Given the description of an element on the screen output the (x, y) to click on. 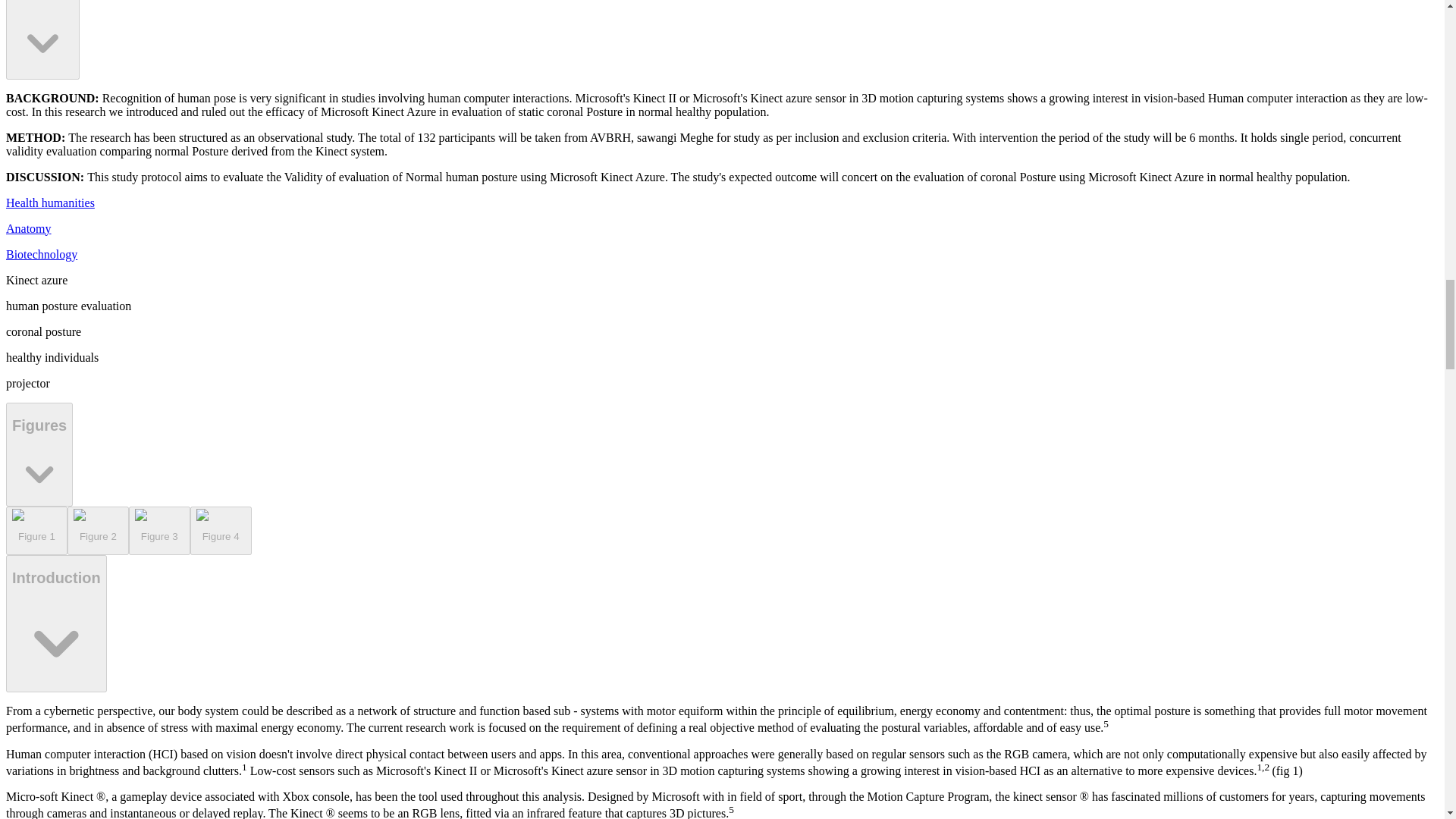
Introduction (55, 623)
Figure 4 (220, 530)
Figure 2 (97, 530)
Figure 1 (35, 530)
Biotechnology (41, 254)
Anatomy (27, 228)
Health humanities (49, 202)
Figure 3 (159, 530)
Abstract (42, 39)
Figures (38, 454)
